Given the description of an element on the screen output the (x, y) to click on. 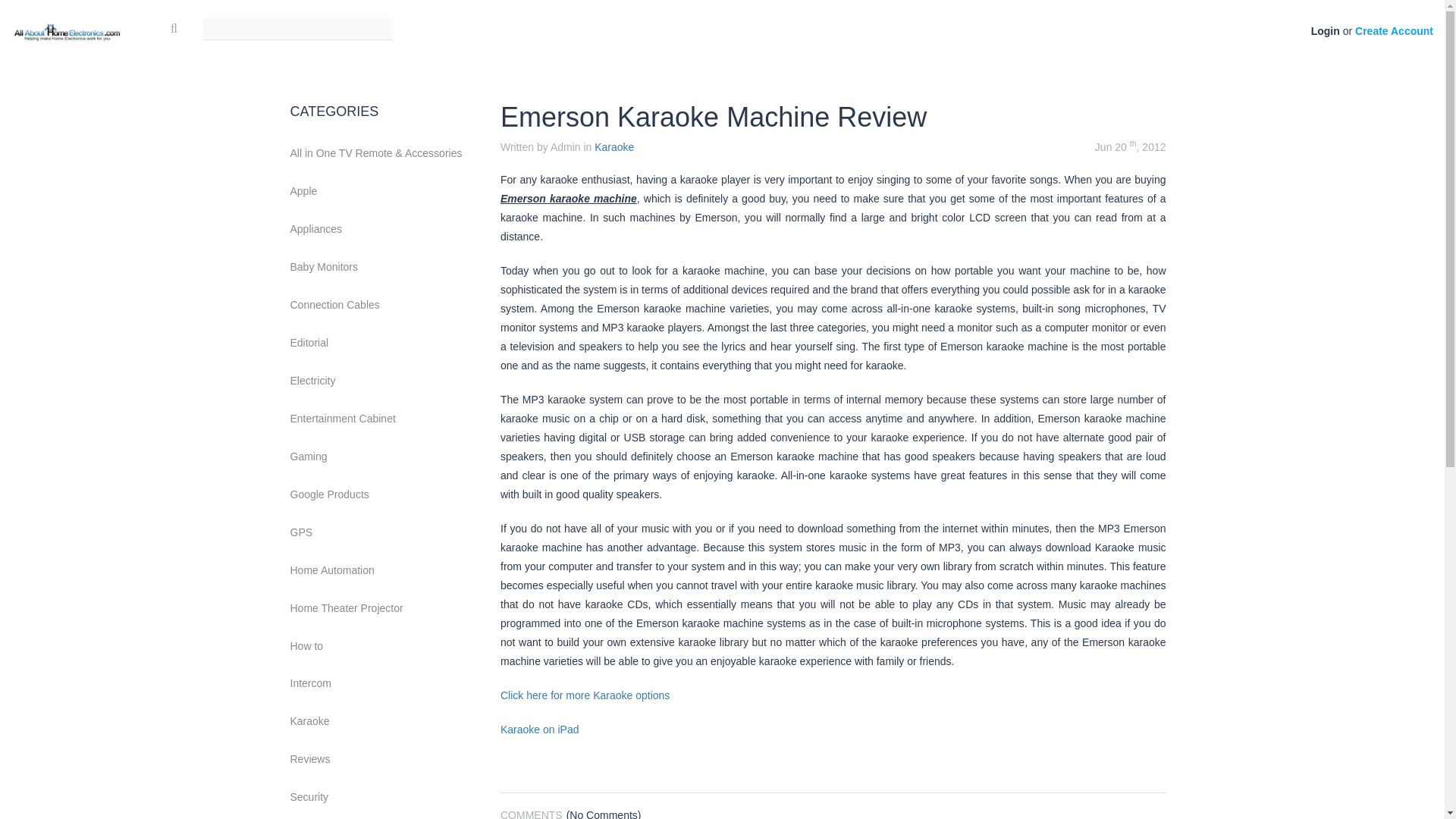
Baby Monitors (383, 267)
Home Theater Projector (383, 608)
Google Products (383, 494)
Electricity (383, 381)
How to (383, 645)
Apple (383, 191)
Intercom (383, 683)
Karaoke (383, 721)
Connection Cables (383, 305)
Create Account (1393, 30)
